Given the description of an element on the screen output the (x, y) to click on. 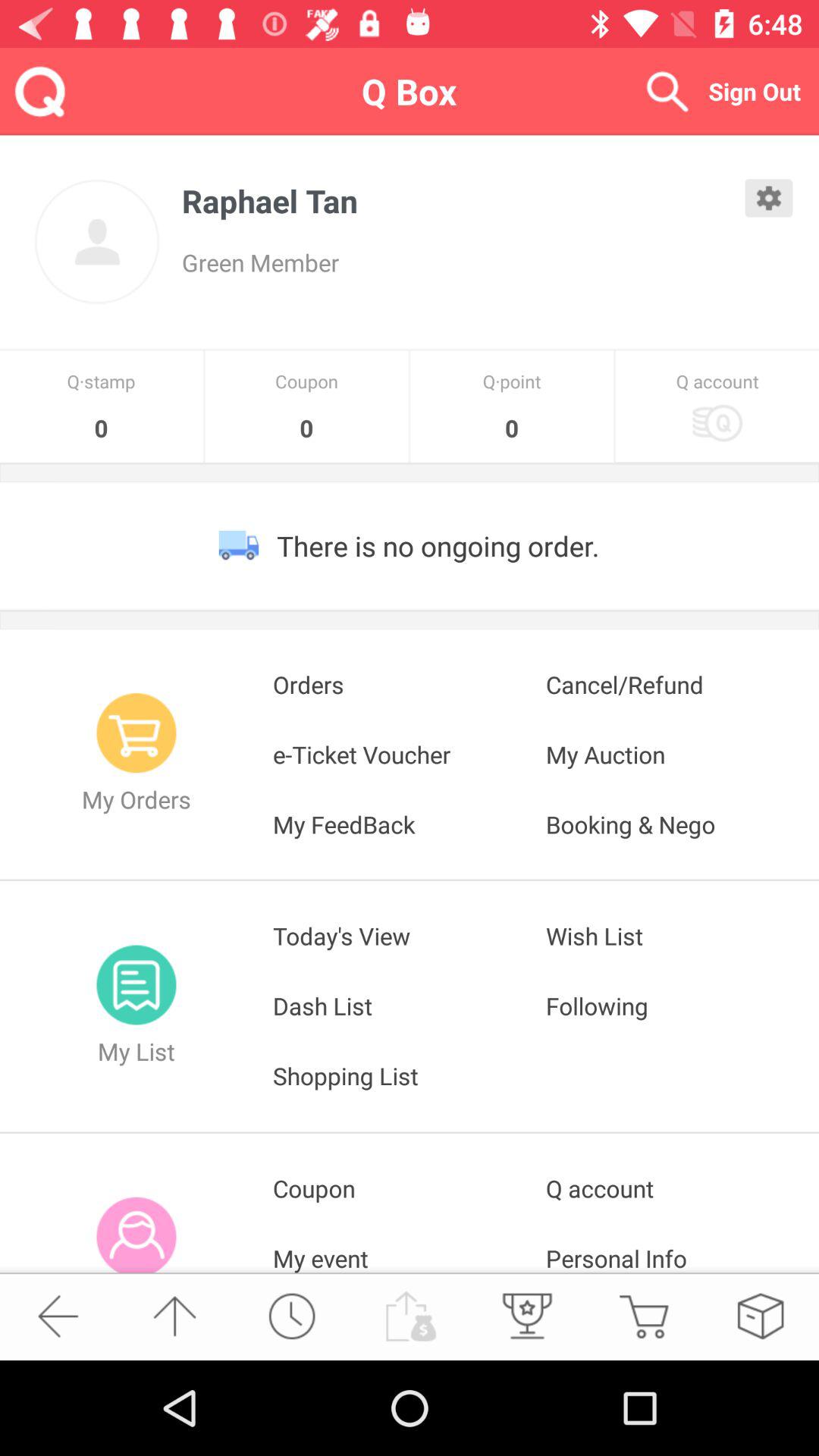
press item next to the my list icon (409, 1005)
